Given the description of an element on the screen output the (x, y) to click on. 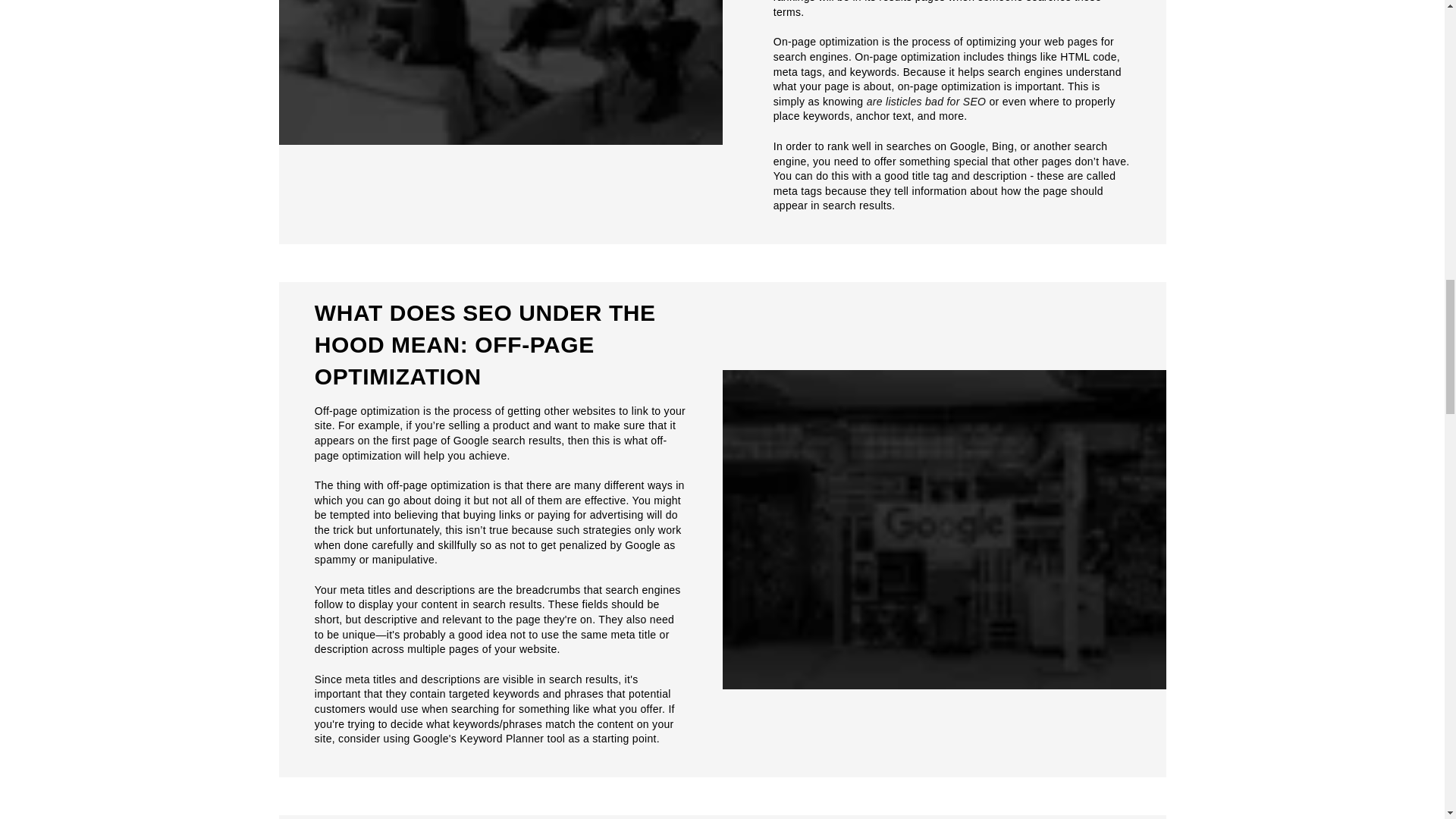
are listicles bad for SEO (926, 101)
